Given the description of an element on the screen output the (x, y) to click on. 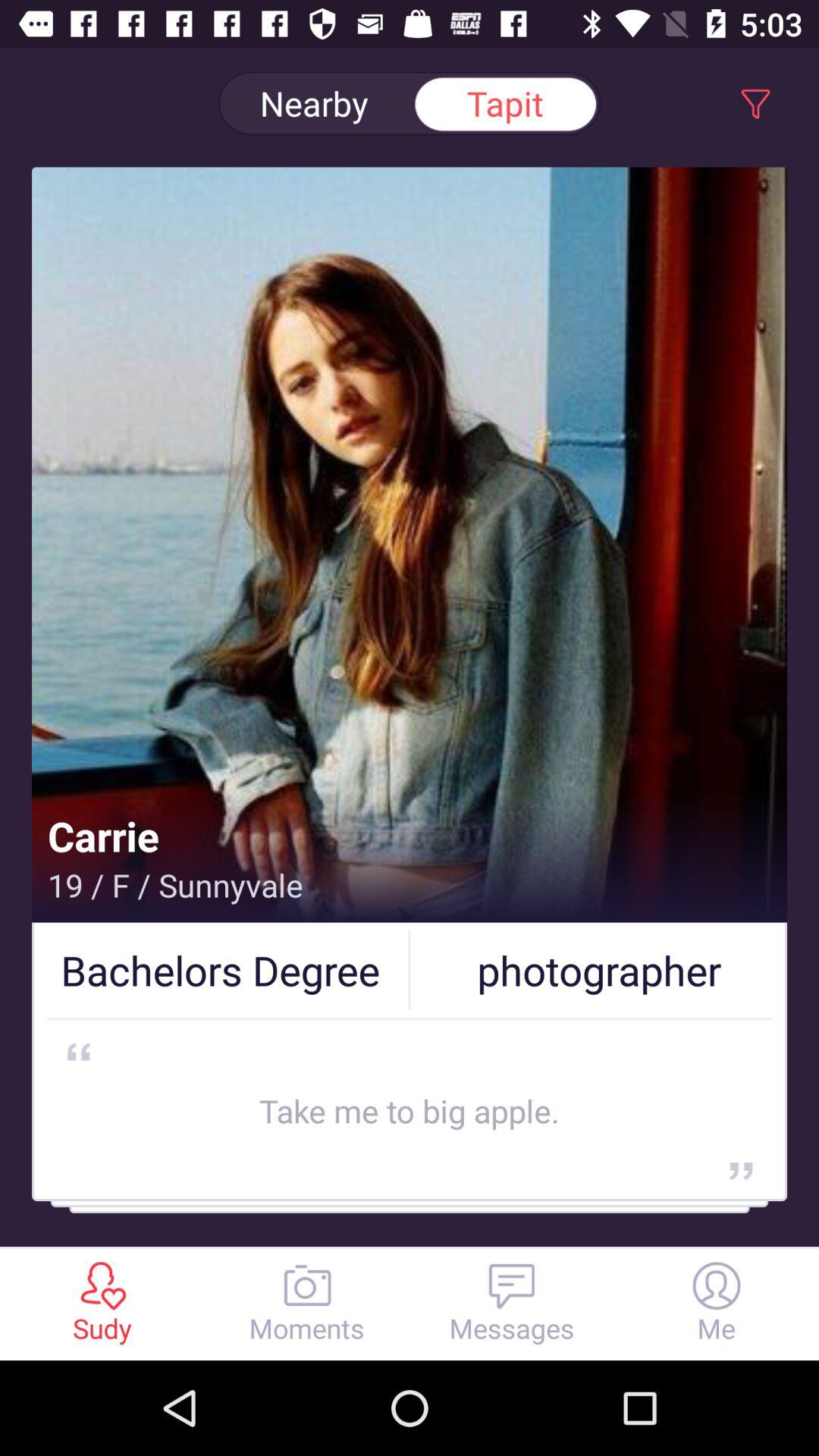
click on the image (409, 583)
click on the profie icon which is at the right side in the bottom (716, 1285)
click tapit (504, 103)
click on the study icon which is on the left side at the bottom of the page (102, 1285)
click on symbol below bachelor degree (78, 1050)
